Given the description of an element on the screen output the (x, y) to click on. 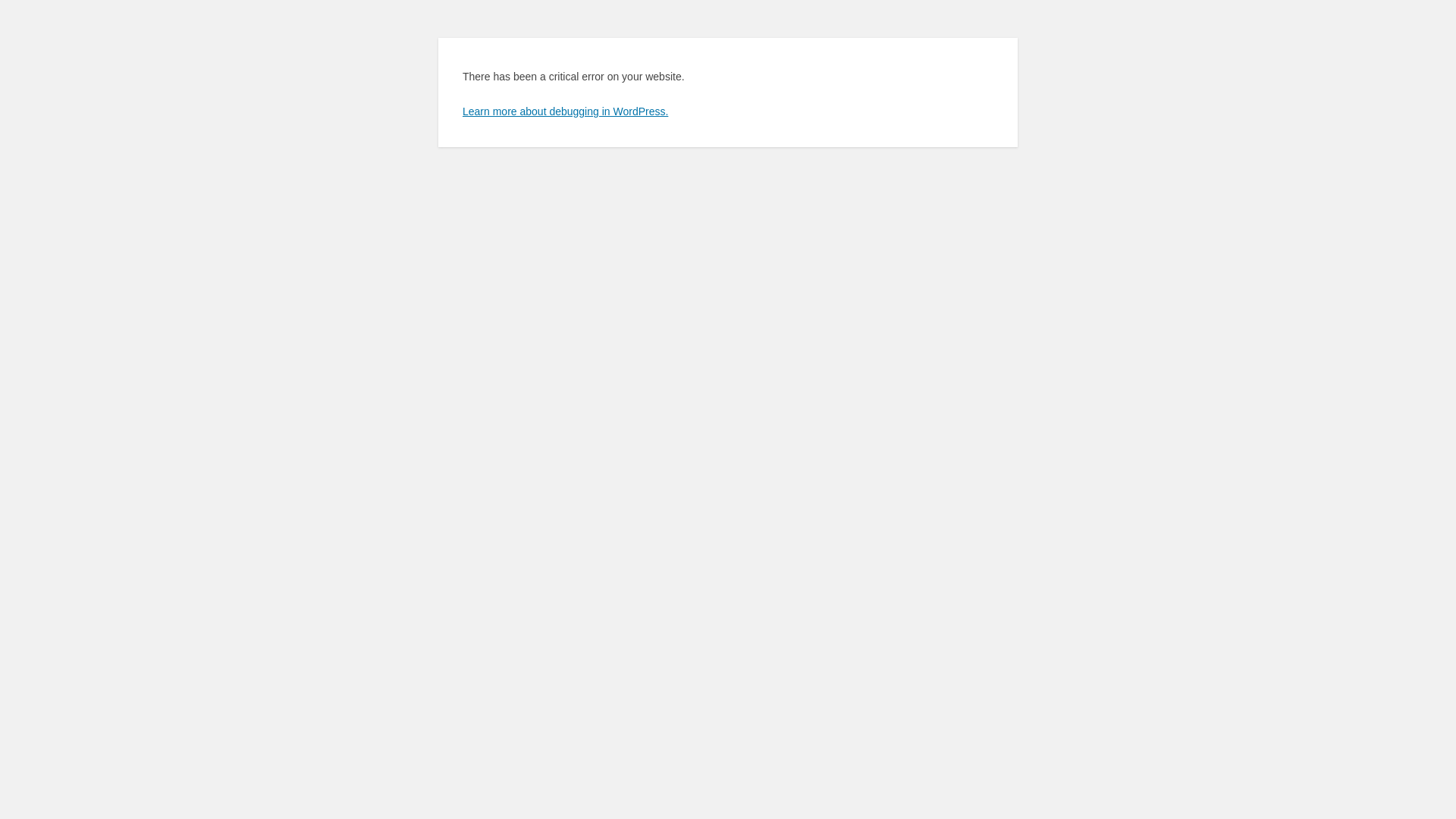
Learn more about debugging in WordPress. Element type: text (565, 111)
